Given the description of an element on the screen output the (x, y) to click on. 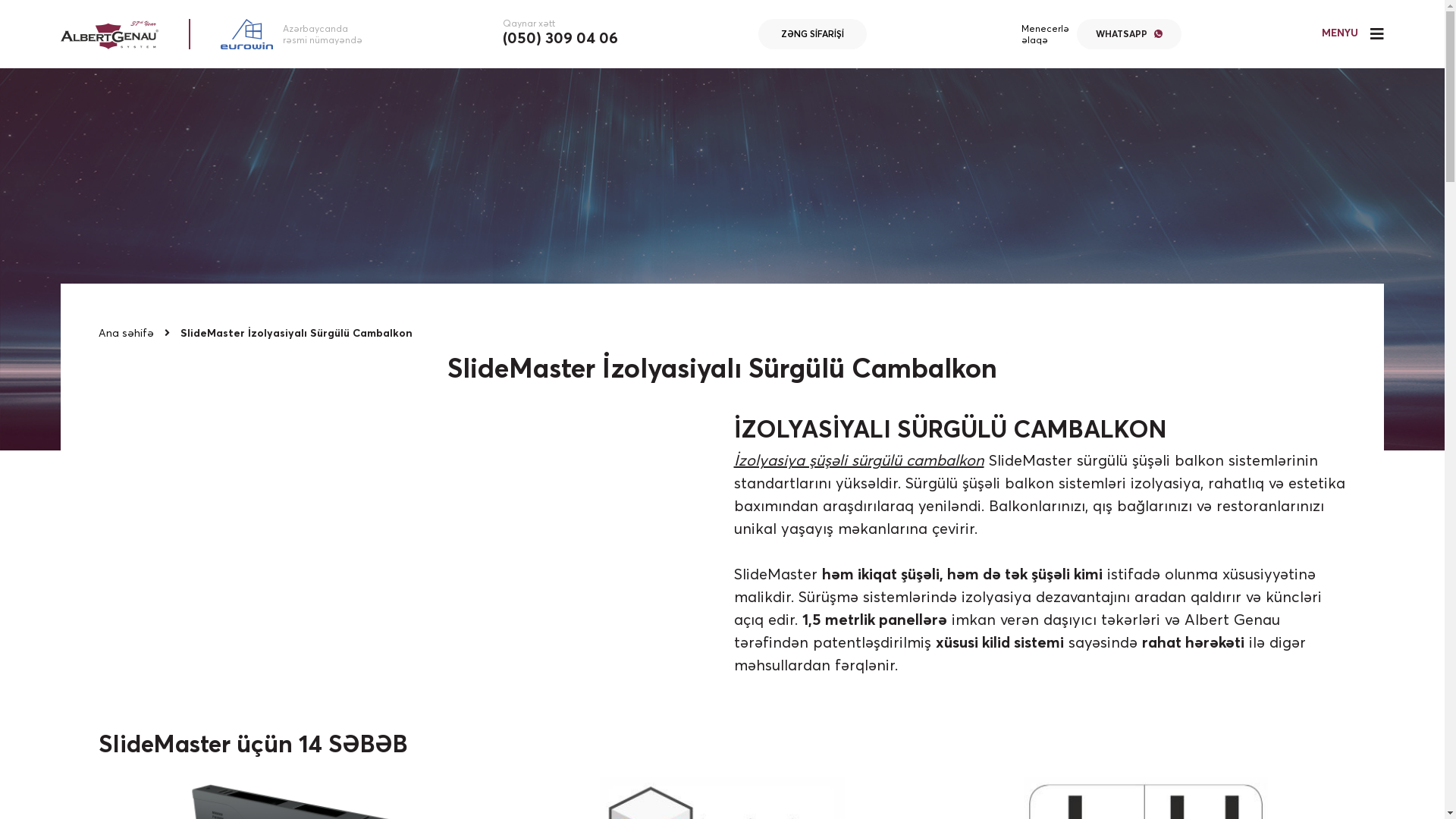
MENYU Element type: text (1352, 33)
(050) 309 04 06 Element type: text (560, 37)
WHATSAPP Element type: text (1128, 33)
